Given the description of an element on the screen output the (x, y) to click on. 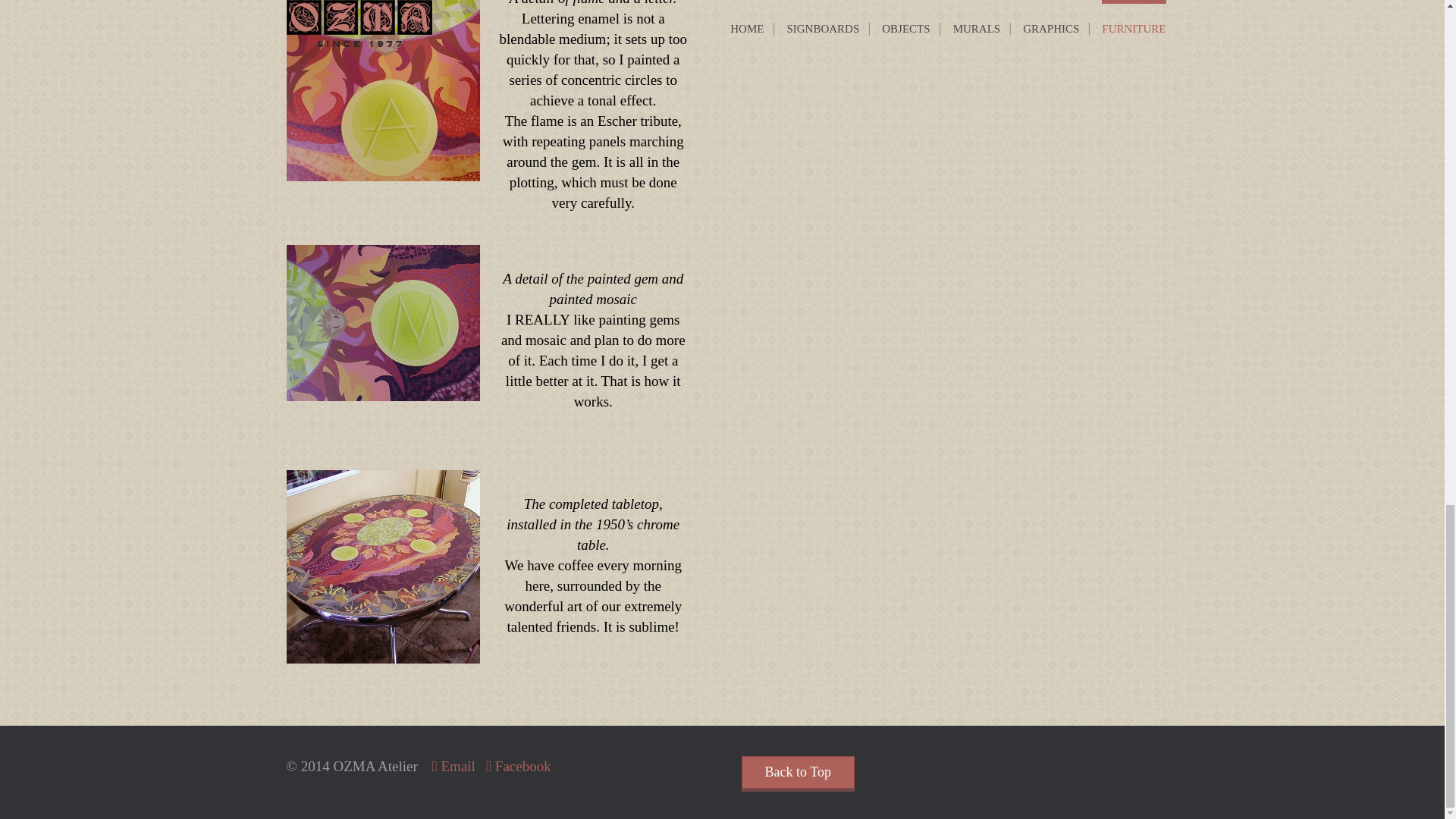
Facebook (518, 765)
Email (454, 765)
Back to Top (797, 771)
